Given the description of an element on the screen output the (x, y) to click on. 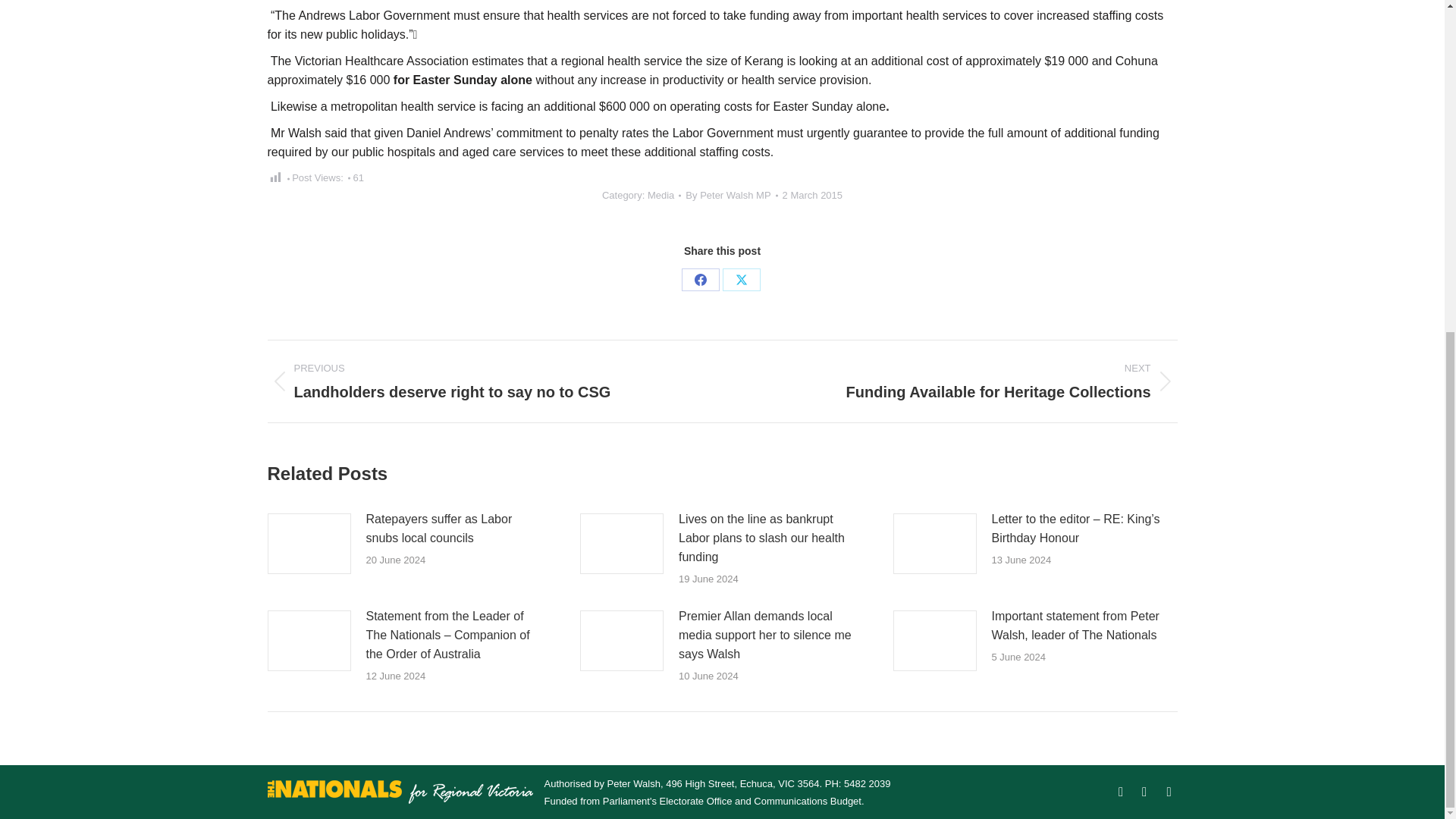
Facebook (700, 279)
View all posts by Peter Walsh MP (731, 194)
12:00 am (813, 194)
